Given the description of an element on the screen output the (x, y) to click on. 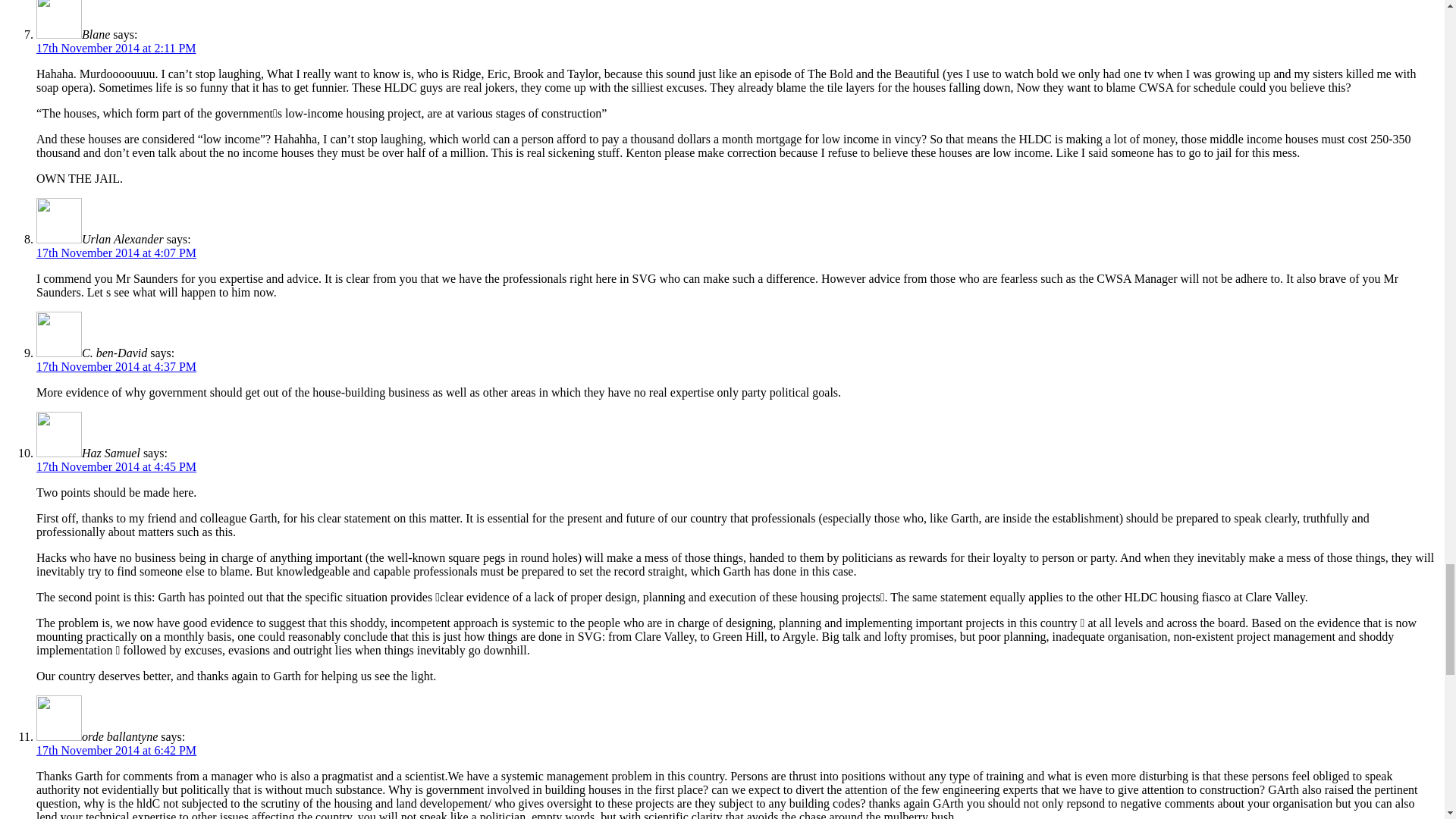
17th November 2014 at 2:11 PM (116, 47)
